Given the description of an element on the screen output the (x, y) to click on. 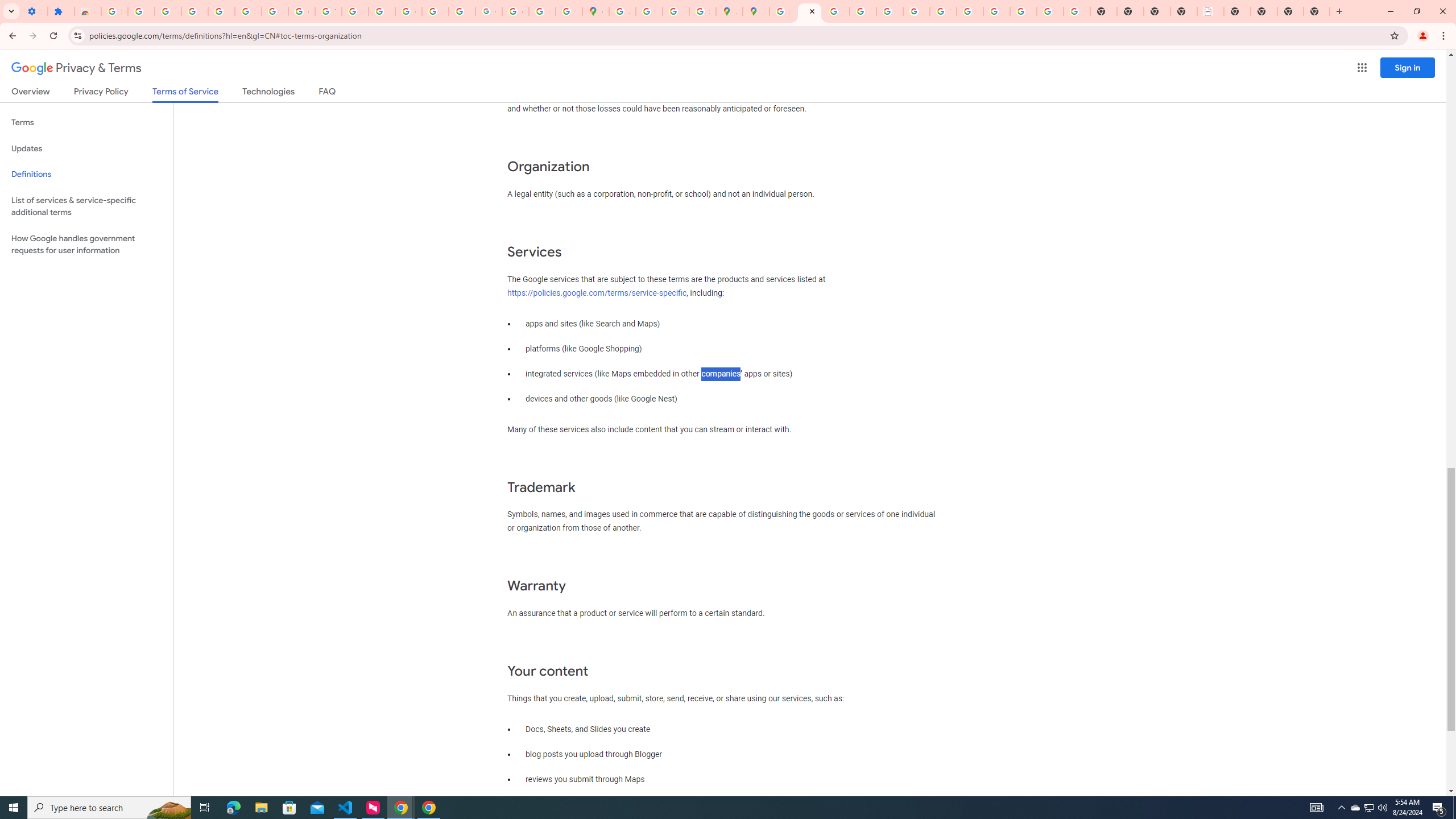
Terms (86, 122)
New Tab (1316, 11)
Terms of Service (184, 94)
Safety in Our Products - Google Safety Center (702, 11)
Privacy Help Center - Policies Help (862, 11)
Browse Chrome as a guest - Computer - Google Chrome Help (970, 11)
Address and search bar (735, 35)
YouTube (943, 11)
LAAD Defence & Security 2025 | BAE Systems (1210, 11)
Privacy Help Center - Policies Help (836, 11)
